Given the description of an element on the screen output the (x, y) to click on. 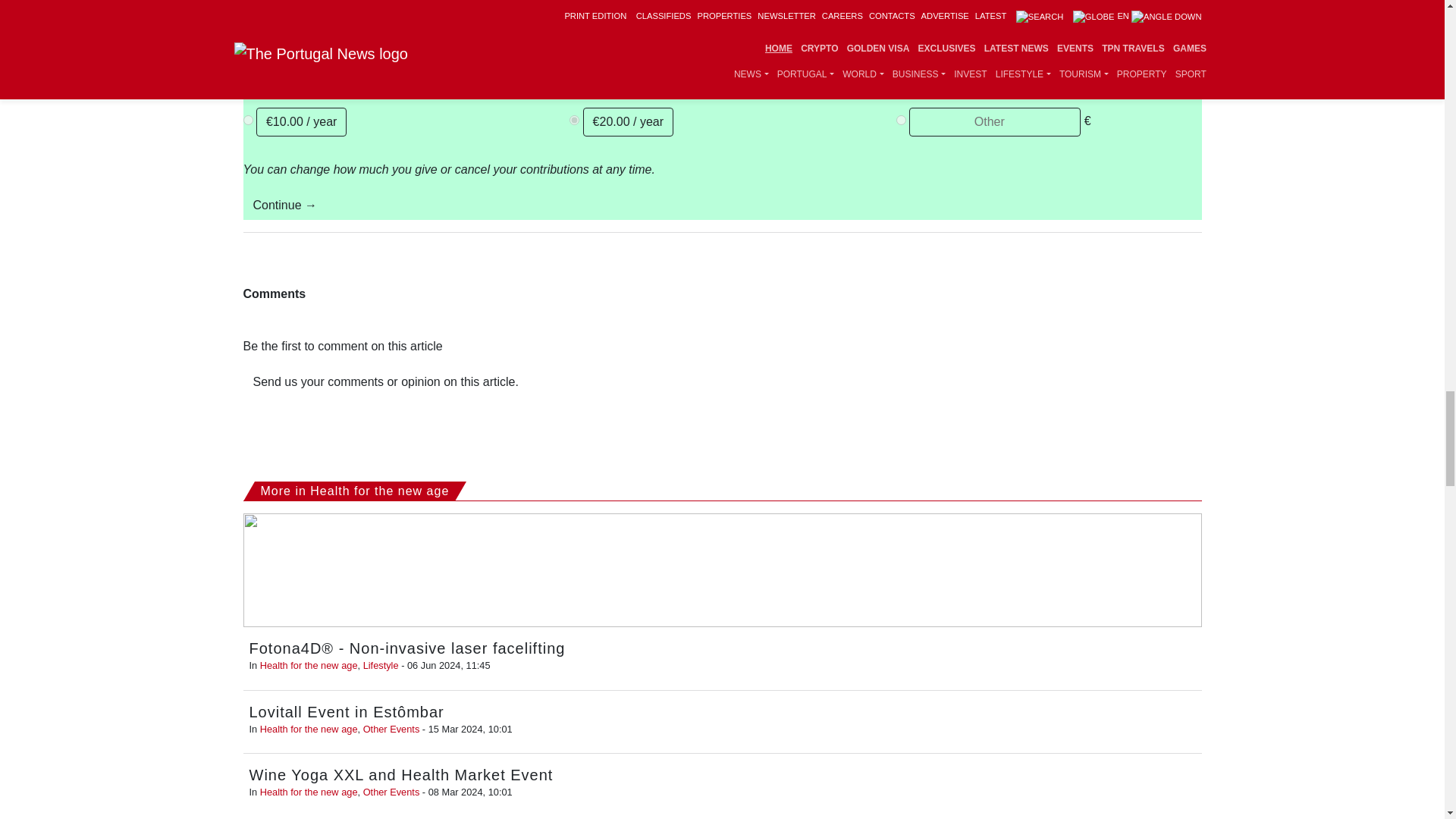
2.5 (247, 79)
10 (247, 38)
10 (247, 120)
20 (574, 120)
20 (574, 38)
5 (574, 79)
